Given the description of an element on the screen output the (x, y) to click on. 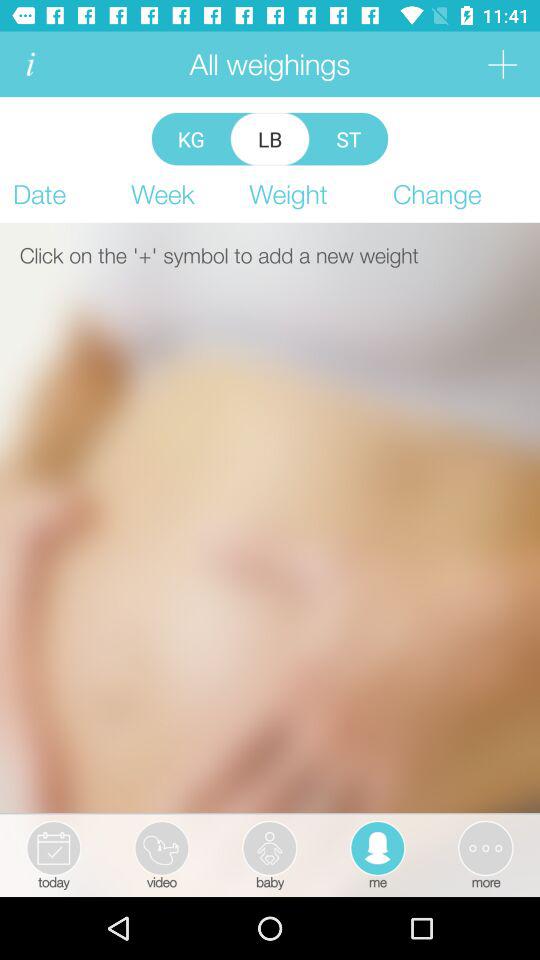
choose app above the change (502, 63)
